Given the description of an element on the screen output the (x, y) to click on. 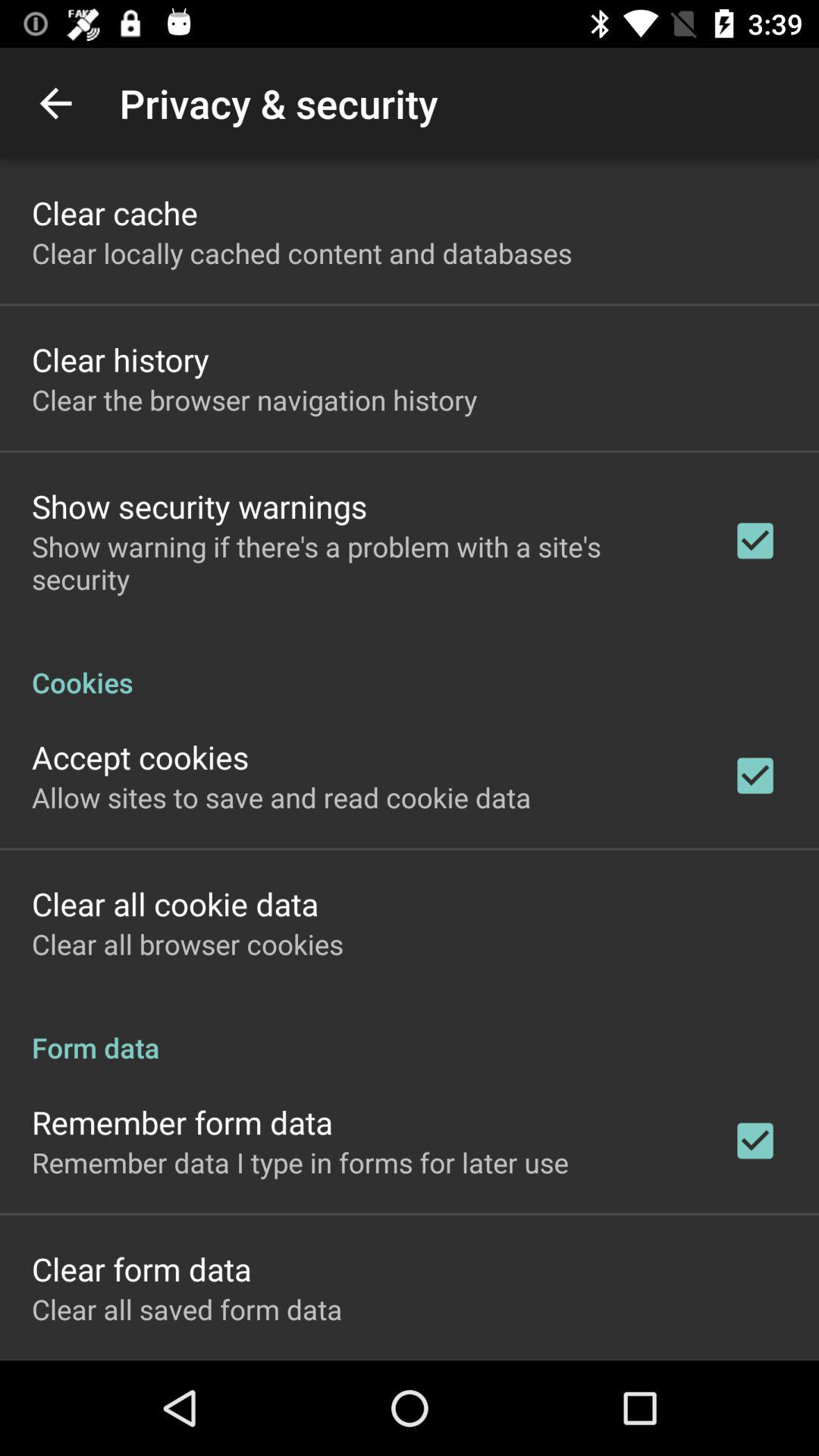
jump until clear locally cached icon (301, 252)
